Given the description of an element on the screen output the (x, y) to click on. 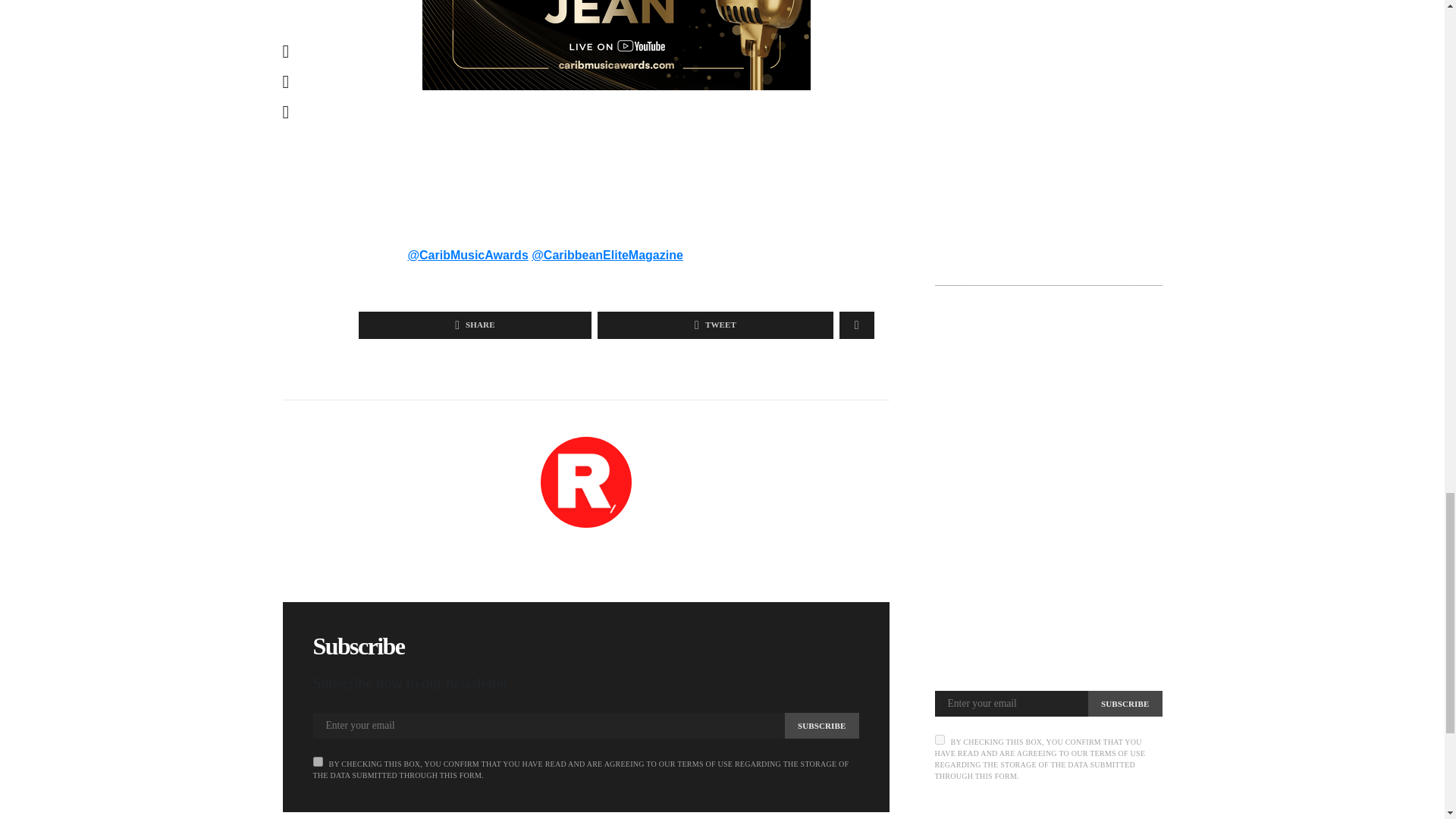
on (317, 761)
